Given the description of an element on the screen output the (x, y) to click on. 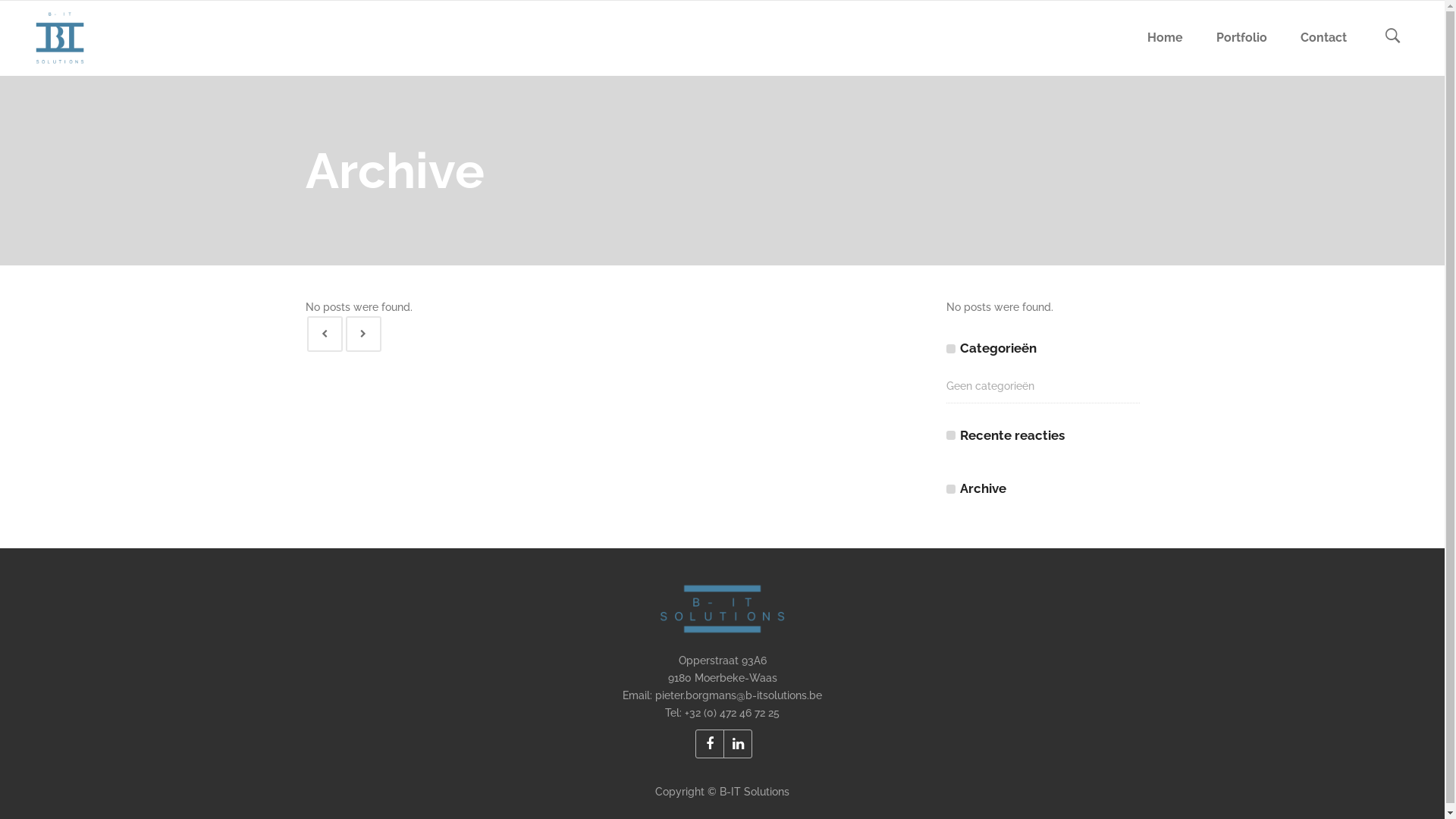
Home Element type: text (1165, 37)
Contact Element type: text (1323, 37)
Portfolio Element type: text (1241, 37)
